Given the description of an element on the screen output the (x, y) to click on. 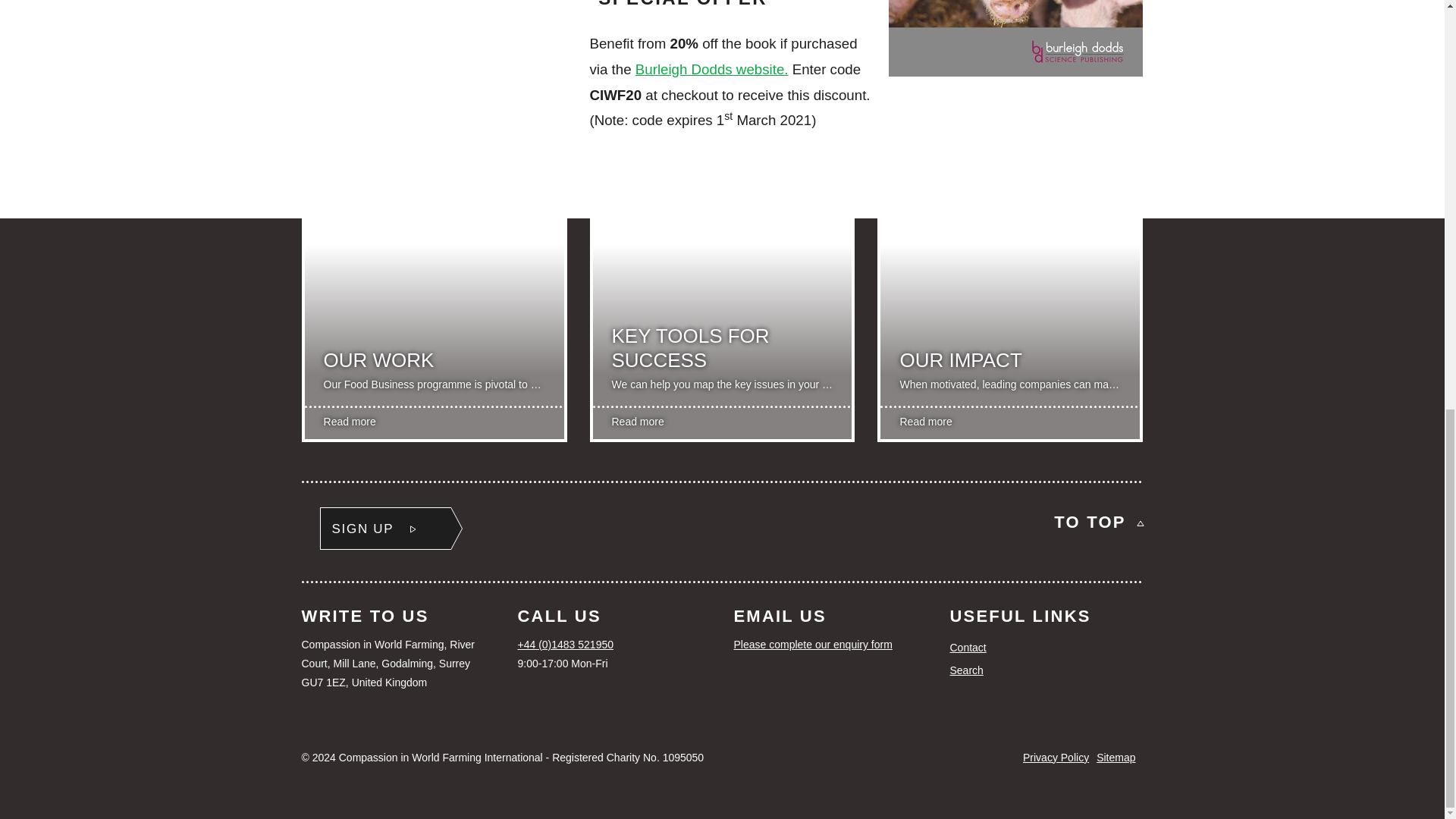
Contact (1045, 648)
TO TOP (1098, 521)
Sitemap (1115, 757)
Burleigh Dodds website. (711, 68)
Search (1045, 670)
SIGN UP (385, 527)
Burleigh Dodds Website (711, 68)
